Given the description of an element on the screen output the (x, y) to click on. 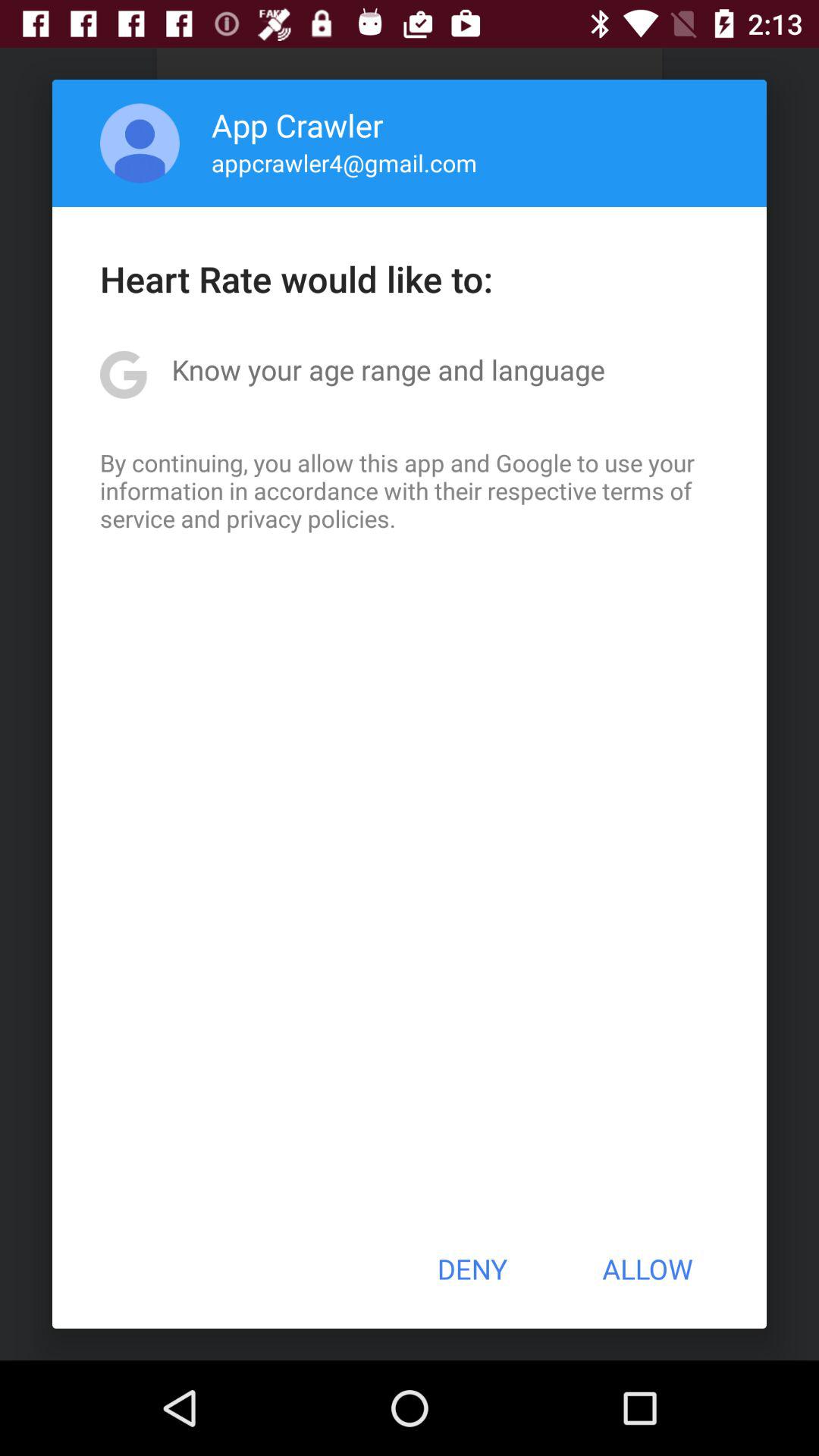
select appcrawler4@gmail.com (344, 162)
